Given the description of an element on the screen output the (x, y) to click on. 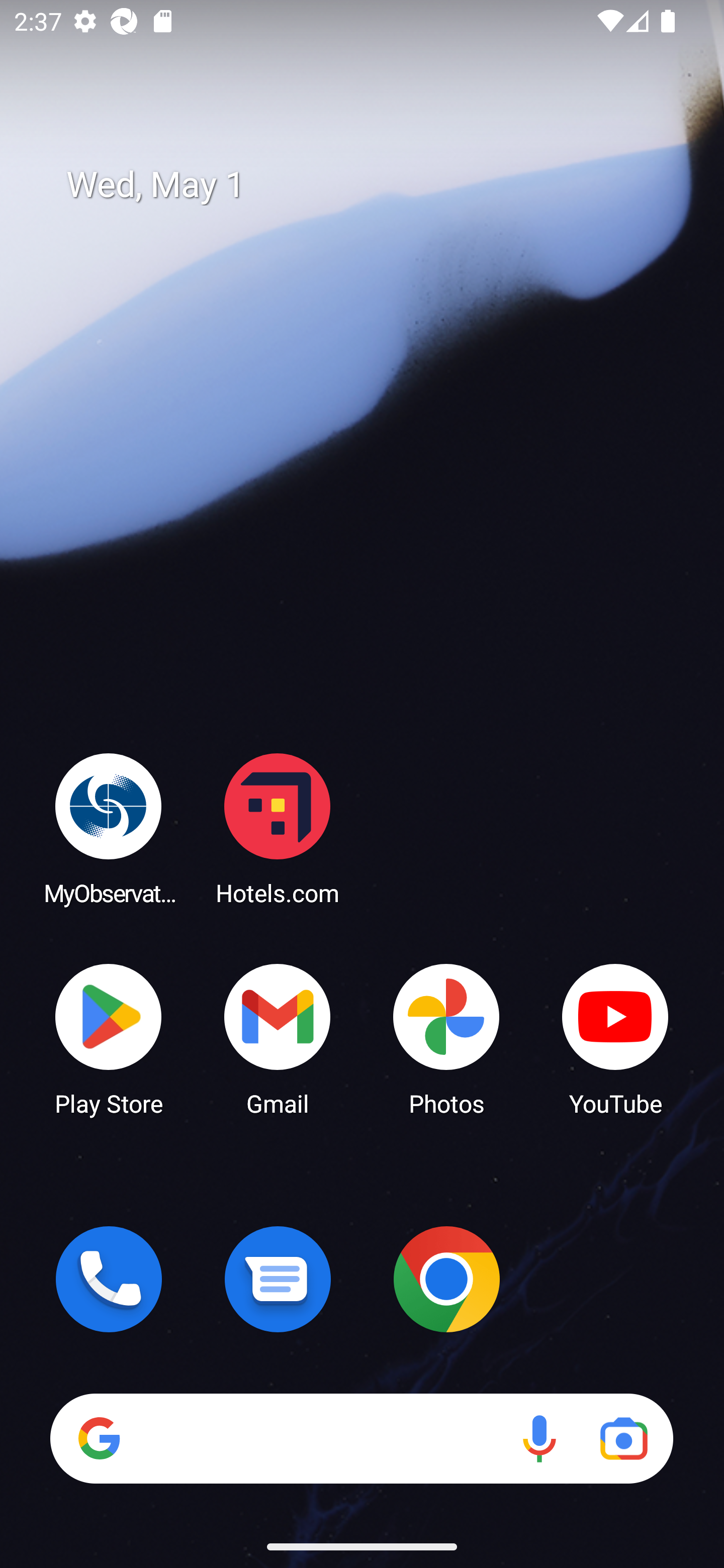
Wed, May 1 (375, 184)
MyObservatory (108, 828)
Hotels.com (277, 828)
Play Store (108, 1038)
Gmail (277, 1038)
Photos (445, 1038)
YouTube (615, 1038)
Phone (108, 1279)
Messages (277, 1279)
Chrome (446, 1279)
Search Voice search Google Lens (361, 1438)
Voice search (539, 1438)
Google Lens (623, 1438)
